Given the description of an element on the screen output the (x, y) to click on. 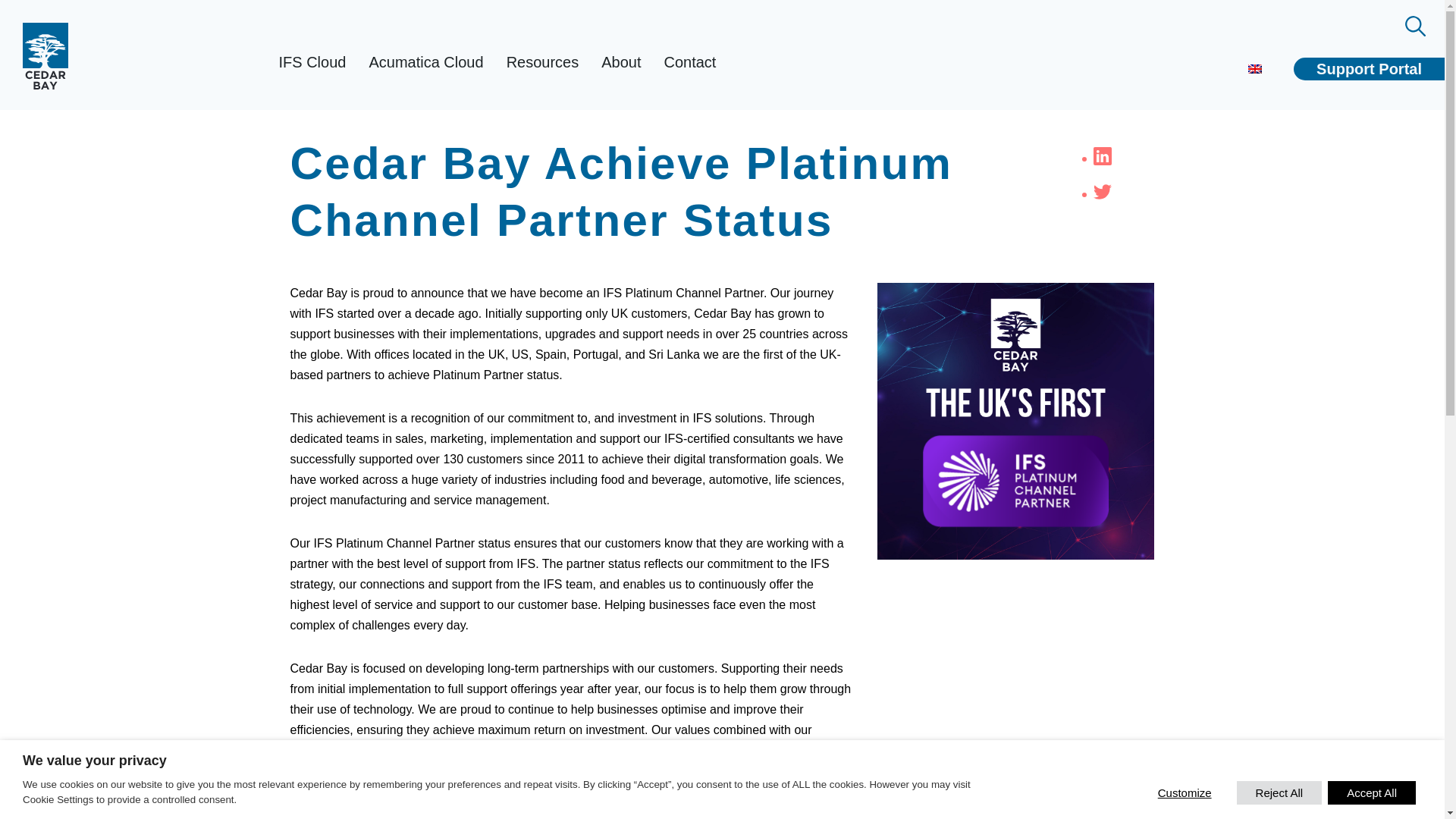
Resources (543, 62)
About (620, 62)
Ifs Platinum Channel Partner Wordpress Image (1015, 420)
Contact (689, 62)
Acumatica Cloud (425, 62)
IFS Cloud (311, 62)
